Given the description of an element on the screen output the (x, y) to click on. 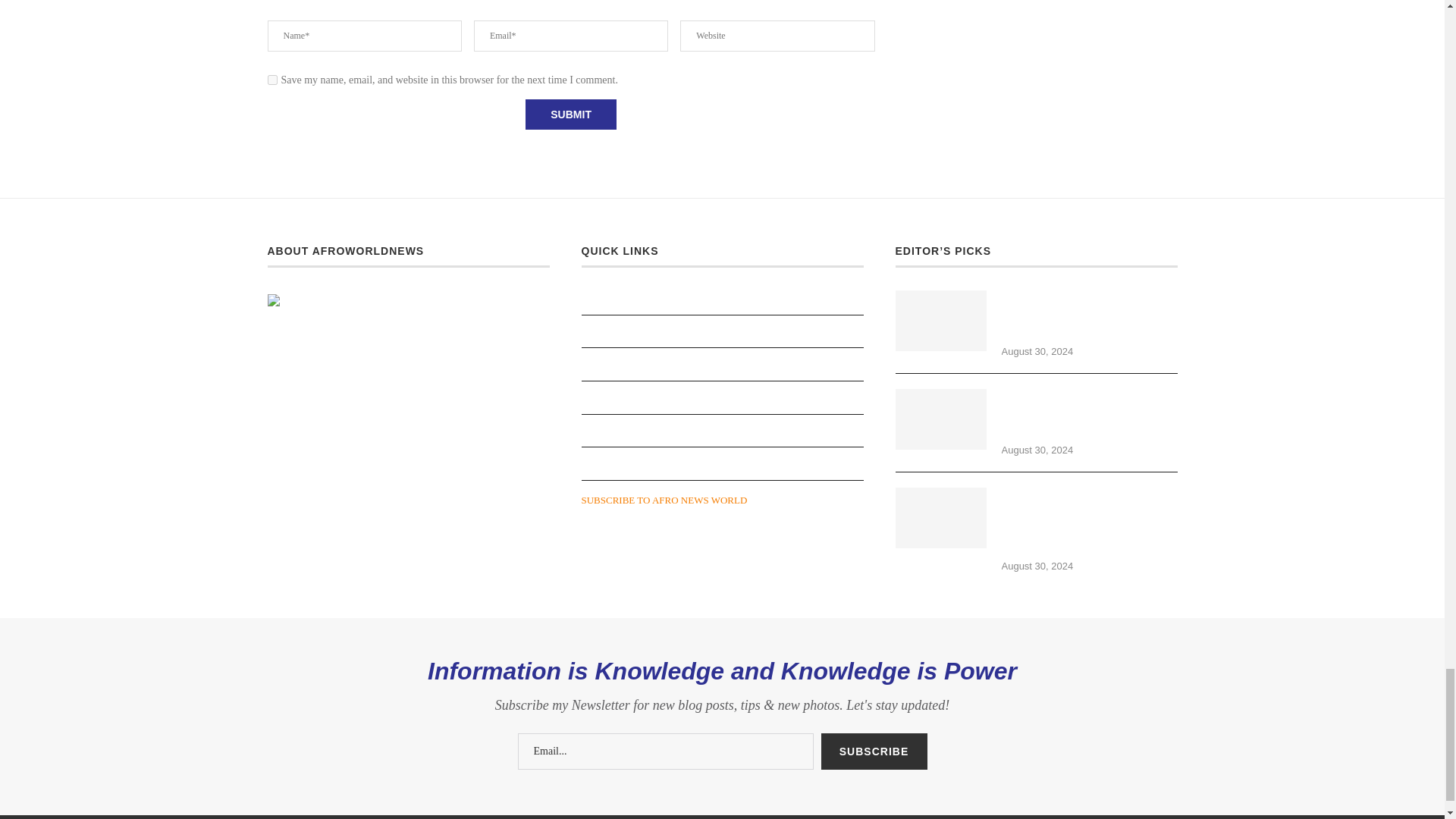
Submit (570, 114)
yes (271, 80)
Subscribe (873, 751)
